Given the description of an element on the screen output the (x, y) to click on. 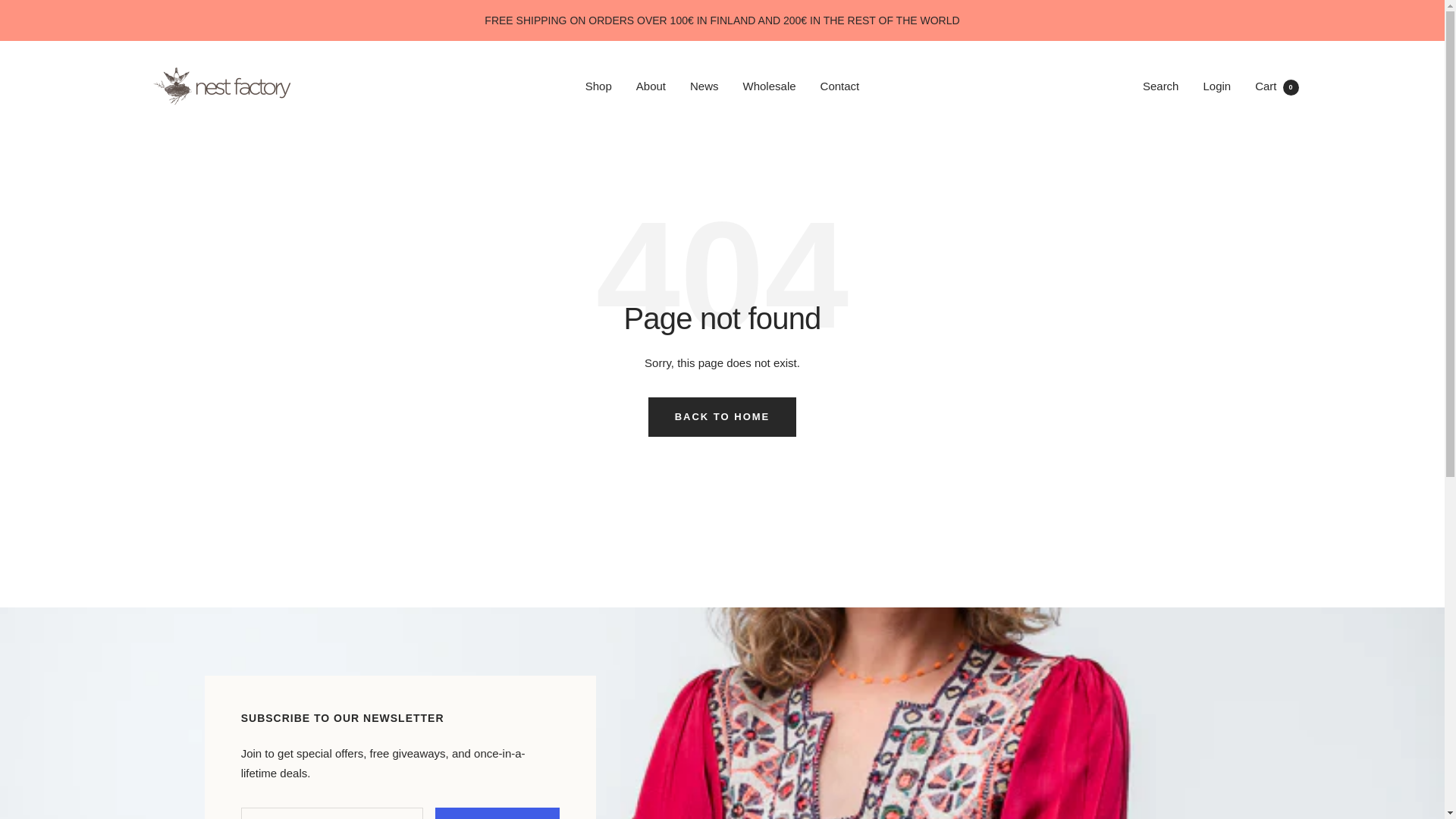
Login (1276, 84)
BACK TO HOME (1216, 84)
Nest Factory (721, 416)
About (221, 85)
SUBSCRIBE (650, 85)
Search (497, 813)
News (1160, 84)
Shop (704, 85)
Contact (598, 85)
